Given the description of an element on the screen output the (x, y) to click on. 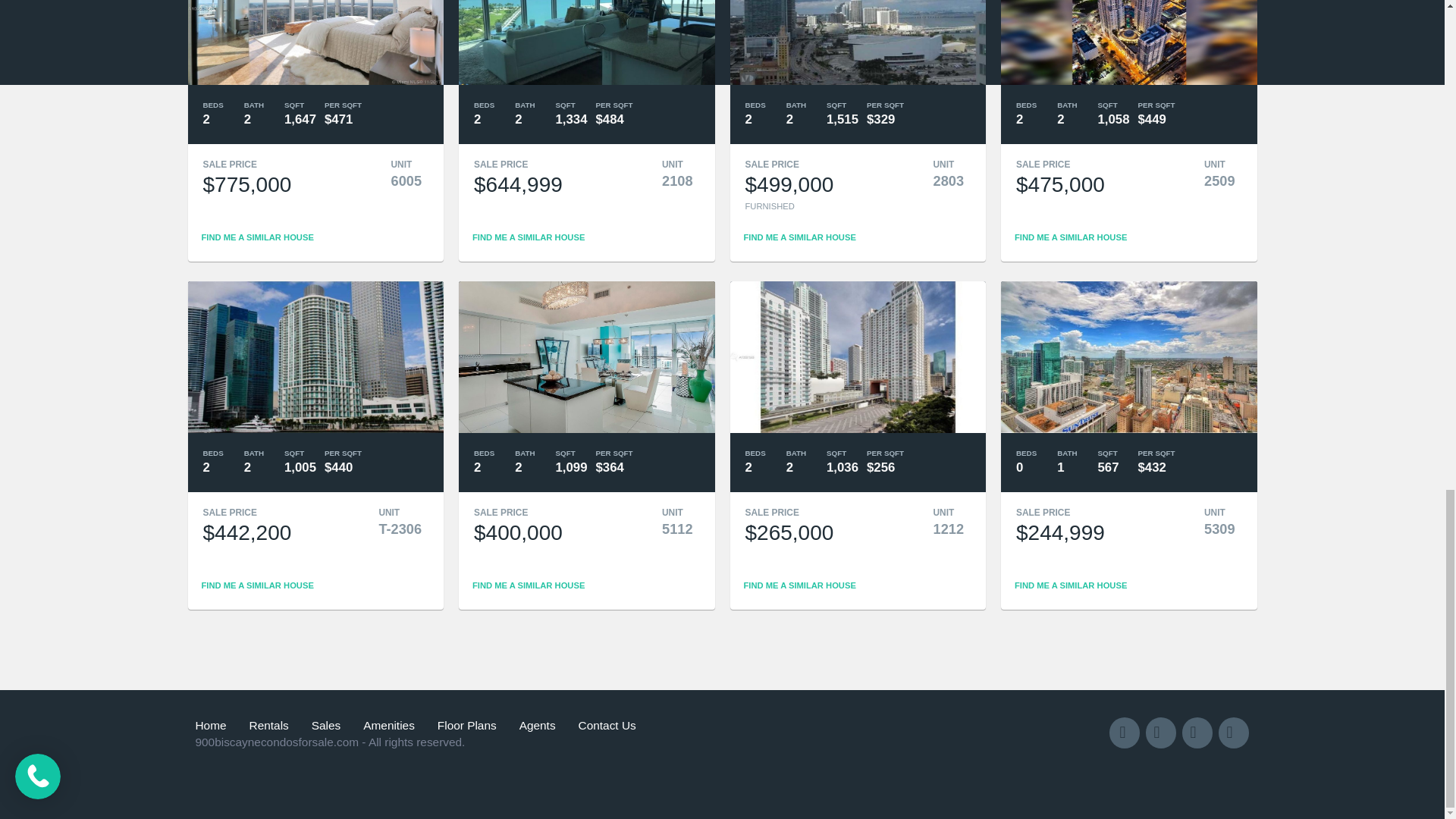
FIND ME A SIMILAR HOUSE (257, 237)
Floor Plans (467, 725)
Sales (325, 725)
FIND ME A SIMILAR HOUSE (528, 237)
Home (216, 725)
Amenities (389, 725)
FIND ME A SIMILAR HOUSE (257, 585)
Contact Us (607, 725)
FIND ME A SIMILAR HOUSE (799, 237)
FIND ME A SIMILAR HOUSE (1070, 237)
Agents (537, 725)
FIND ME A SIMILAR HOUSE (799, 585)
FIND ME A SIMILAR HOUSE (528, 585)
Rentals (268, 725)
FIND ME A SIMILAR HOUSE (1070, 585)
